Given the description of an element on the screen output the (x, y) to click on. 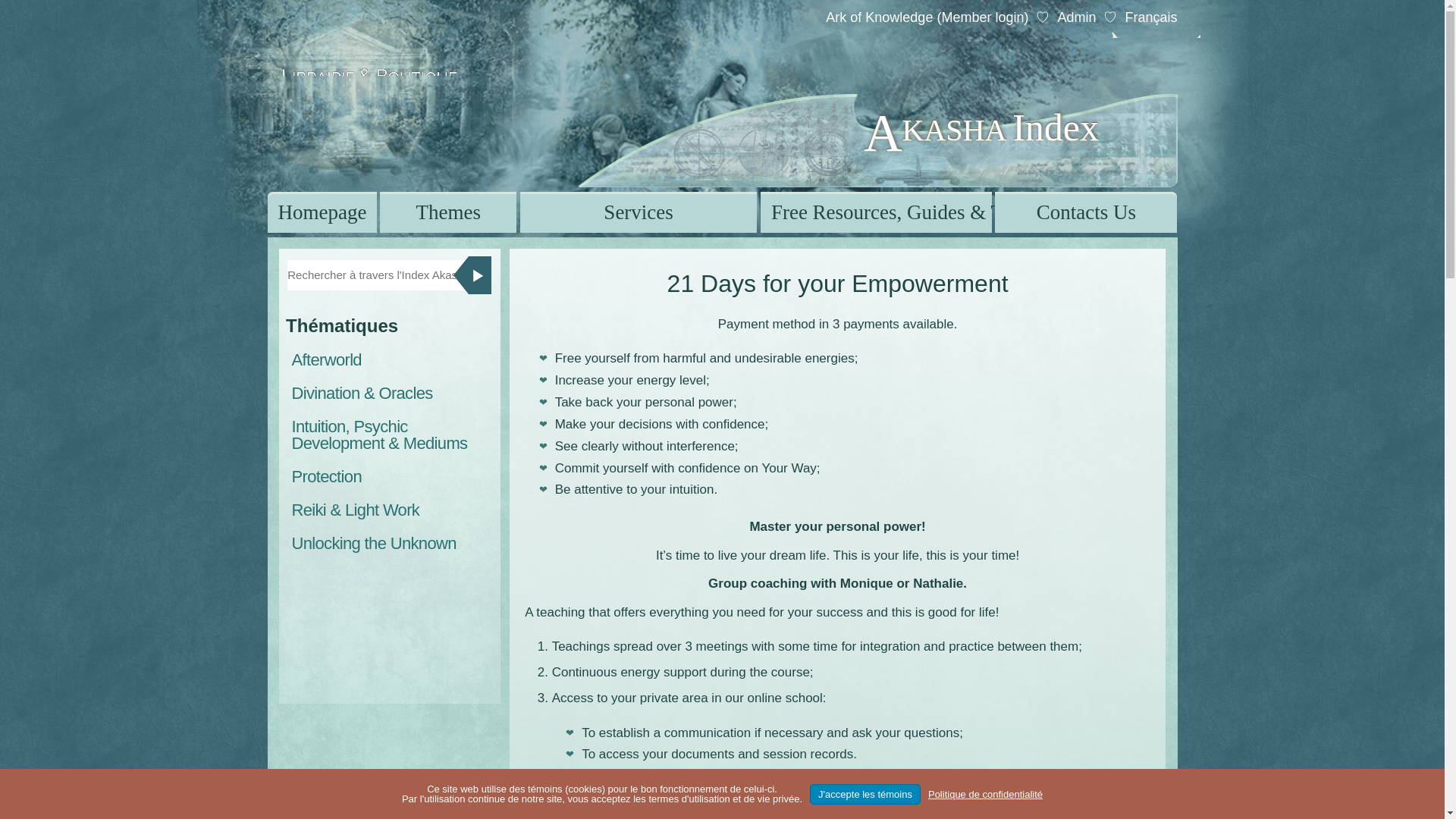
Unlocking the Unknown (389, 543)
Protection (389, 476)
Contacts Us (1085, 211)
Services (638, 211)
Admin (1076, 17)
Homepage (320, 211)
Themes (448, 211)
Afterworld (389, 359)
